Given the description of an element on the screen output the (x, y) to click on. 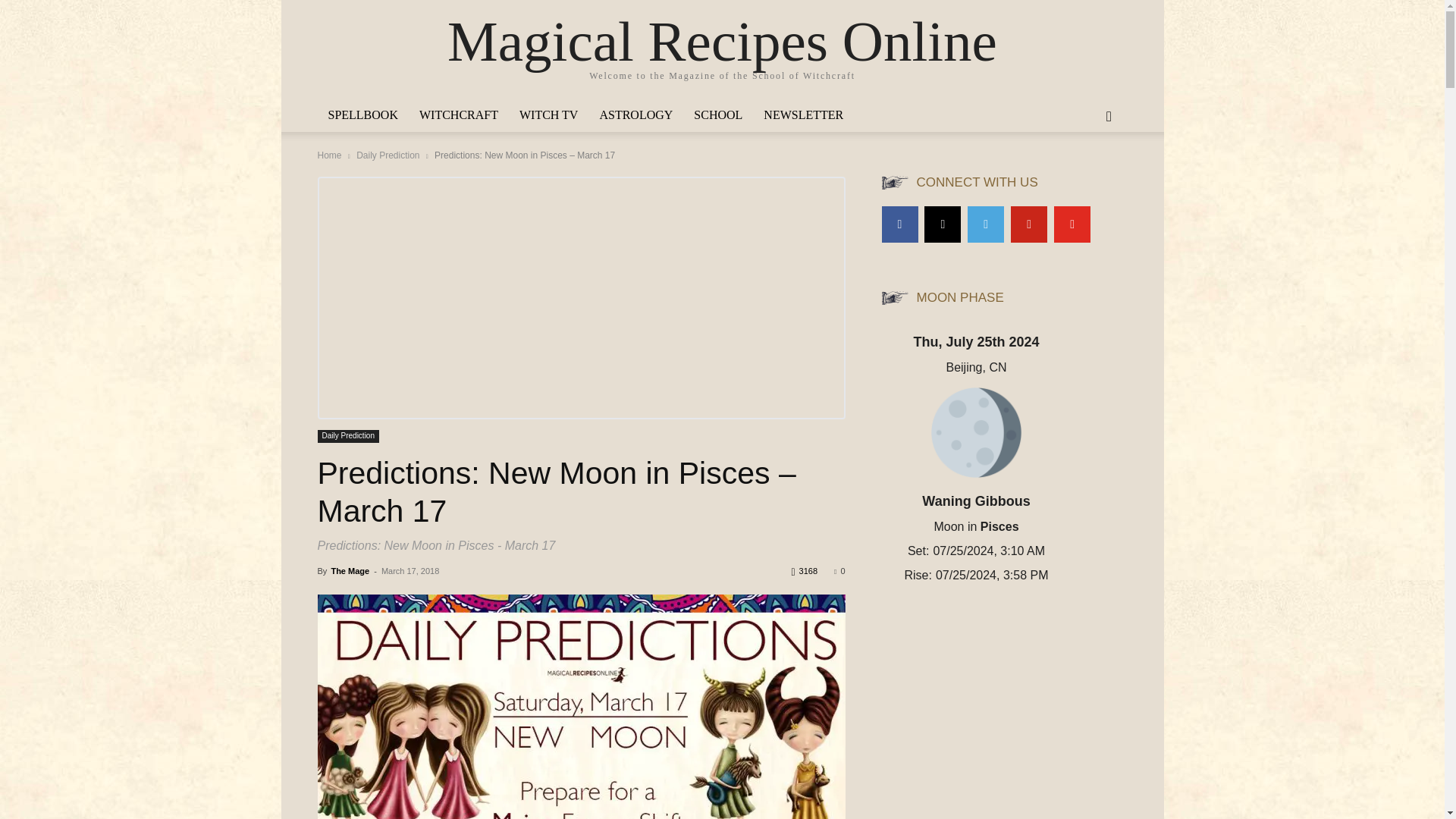
Magical Recipes Online (721, 41)
WITCH TV (548, 114)
View all posts in Daily Prediction (387, 154)
Home (328, 154)
ASTROLOGY (635, 114)
Daily Prediction (387, 154)
NEWSLETTER (802, 114)
SPELLBOOK (362, 114)
Pinterest (1028, 224)
The Mage (349, 570)
SCHOOL (717, 114)
YouTube (1072, 224)
Search (1085, 177)
Facebook (898, 224)
Twitter (986, 224)
